Given the description of an element on the screen output the (x, y) to click on. 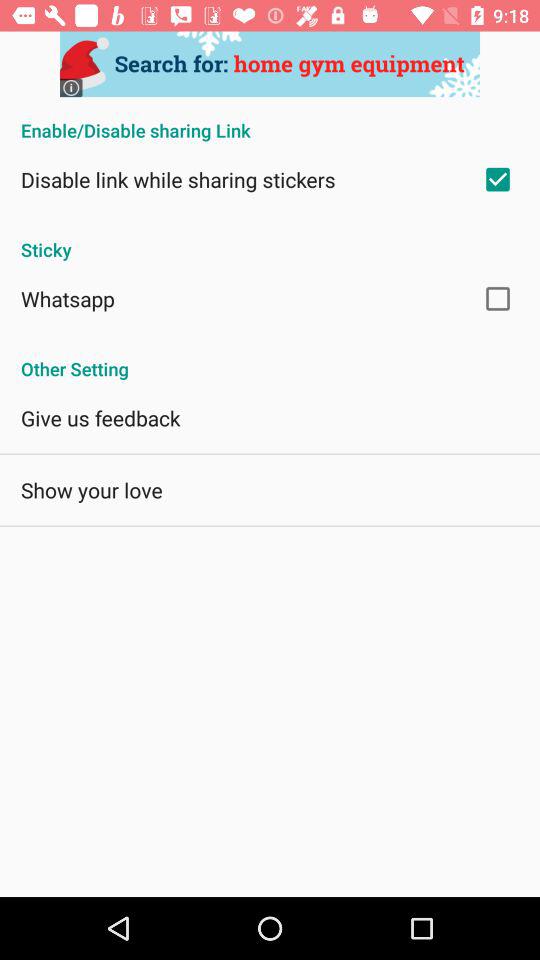
turn off app below the give us feedback app (91, 489)
